Given the description of an element on the screen output the (x, y) to click on. 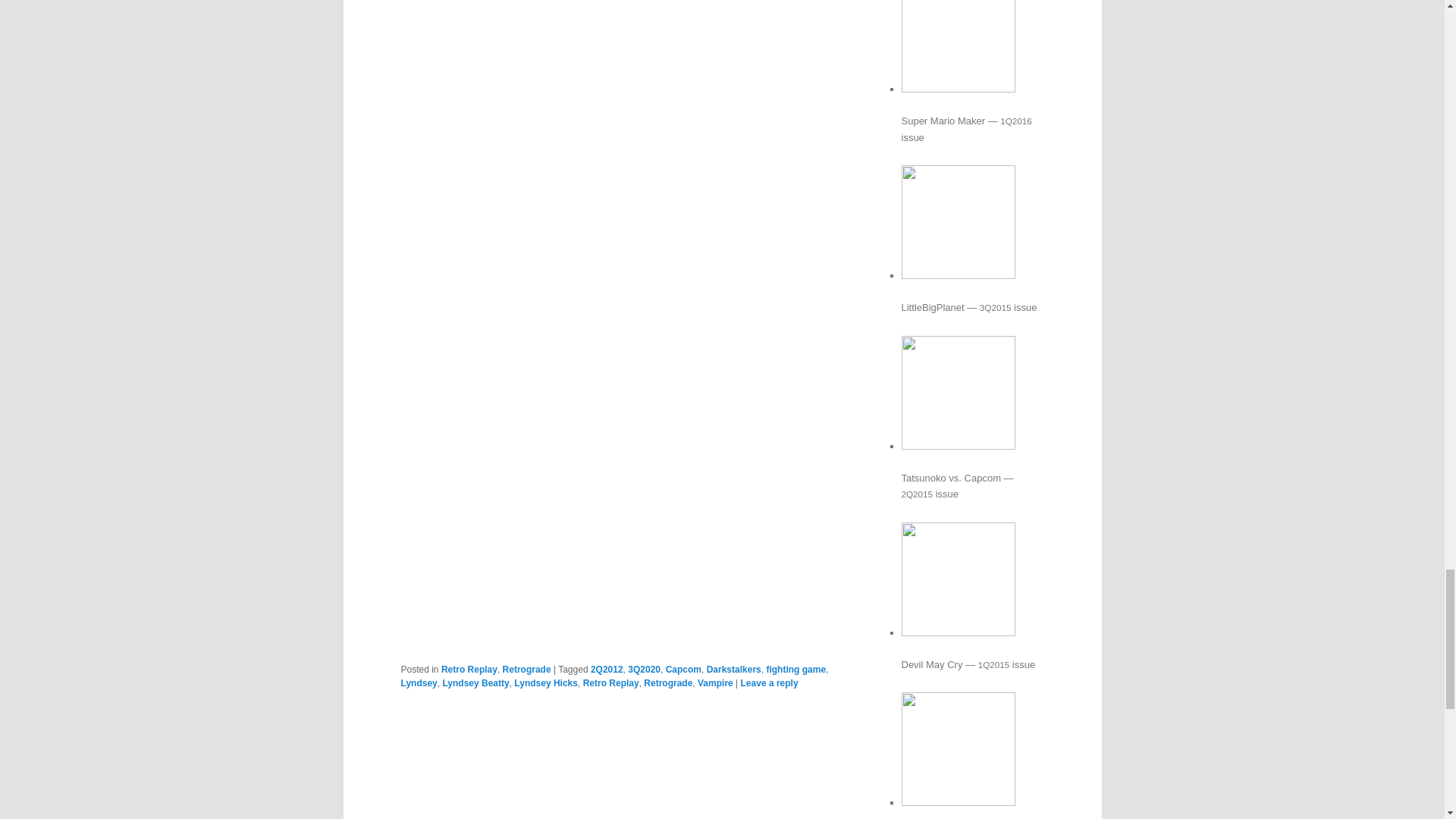
2Q2012 (607, 669)
Retro Replay (611, 683)
Retro Replay (469, 669)
3Q2020 (644, 669)
Lyndsey Beatty (475, 683)
Lyndsey Hicks (545, 683)
Darkstalkers (733, 669)
Retrograde (526, 669)
fighting game (795, 669)
Lyndsey (418, 683)
Capcom (683, 669)
Retrograde (668, 683)
